Given the description of an element on the screen output the (x, y) to click on. 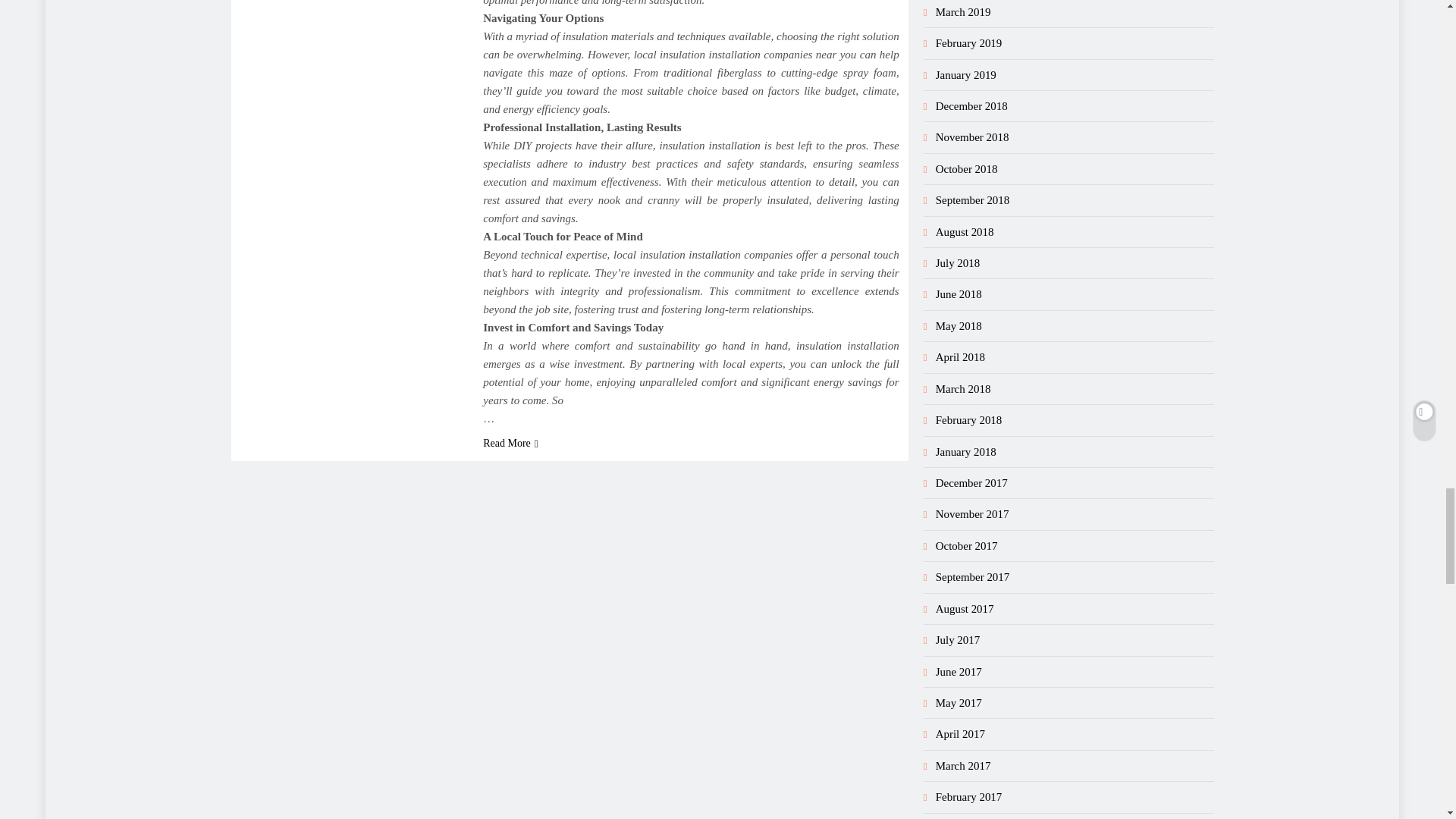
Read More (510, 442)
